Given the description of an element on the screen output the (x, y) to click on. 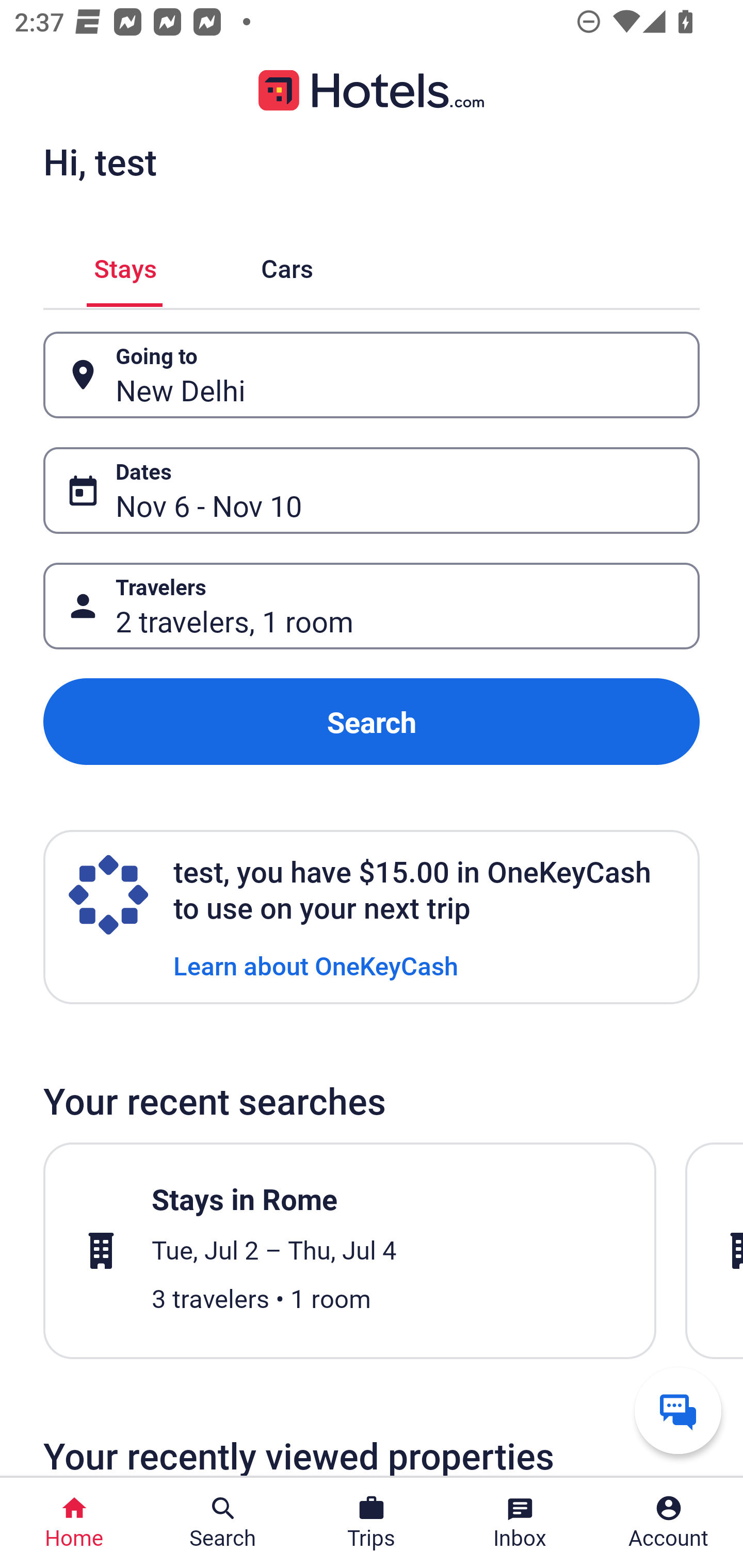
Hi, test (99, 161)
Cars (286, 265)
Going to Button New Delhi (371, 375)
Dates Button Nov 6 - Nov 10 (371, 489)
Travelers Button 2 travelers, 1 room (371, 605)
Search (371, 721)
Learn about OneKeyCash Learn about OneKeyCash Link (315, 964)
Get help from a virtual agent (677, 1410)
Search Search Button (222, 1522)
Trips Trips Button (371, 1522)
Inbox Inbox Button (519, 1522)
Account Profile. Button (668, 1522)
